Given the description of an element on the screen output the (x, y) to click on. 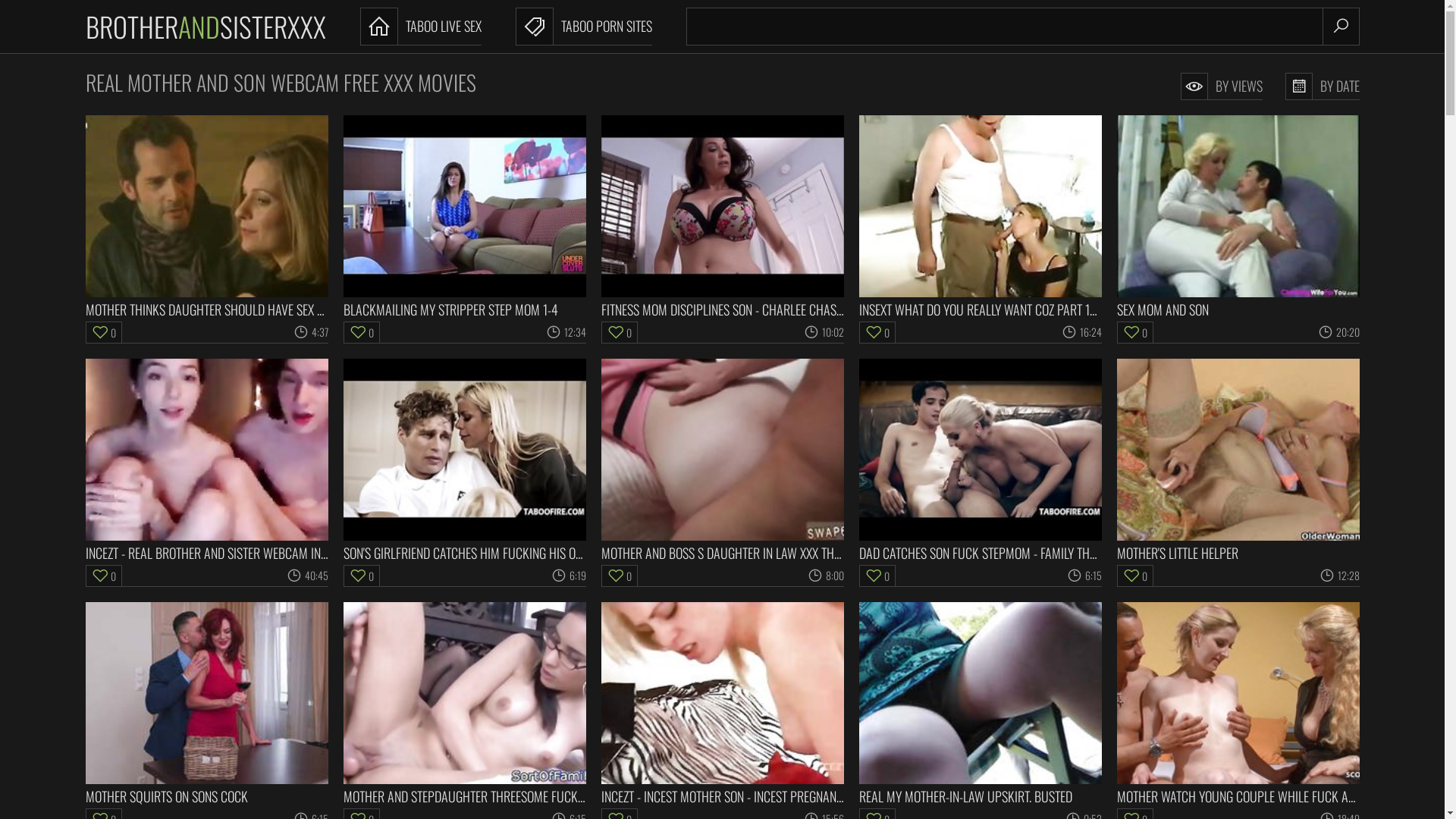
TABOO PORN SITES Element type: text (583, 26)
TABOO LIVE SEX Element type: text (419, 26)
REAL MY MOTHER-IN-LAW UPSKIRT. BUSTED Element type: text (979, 703)
DAD CATCHES SON FUCK STEPMOM - FAMILY THREESOME Element type: text (979, 459)
SEX MOM AND SON Element type: text (1237, 216)
BROTHERANDSISTERXXX Element type: text (204, 26)
BY VIEWS Element type: text (1220, 86)
MOTHER WATCH YOUNG COUPLE WHILE FUCK AND MASTURBATE GERMAN Element type: text (1237, 703)
BLACKMAILING MY STRIPPER STEP MOM 1-4 Element type: text (463, 216)
SON'S GIRLFRIEND CATCHES HIM FUCKING HIS OWN STEP MOM Element type: text (463, 459)
MOTHER AND STEPDAUGHTER THREESOME FUCKING Element type: text (463, 703)
MOTHER THINKS DAUGHTER SHOULD HAVE SEX WITH A COWORKER Element type: text (205, 216)
MOTHER SQUIRTS ON SONS COCK Element type: text (205, 703)
MOTHER'S LITTLE HELPER Element type: text (1237, 459)
Find Element type: hover (1340, 26)
BY DATE Element type: text (1321, 86)
